Given the description of an element on the screen output the (x, y) to click on. 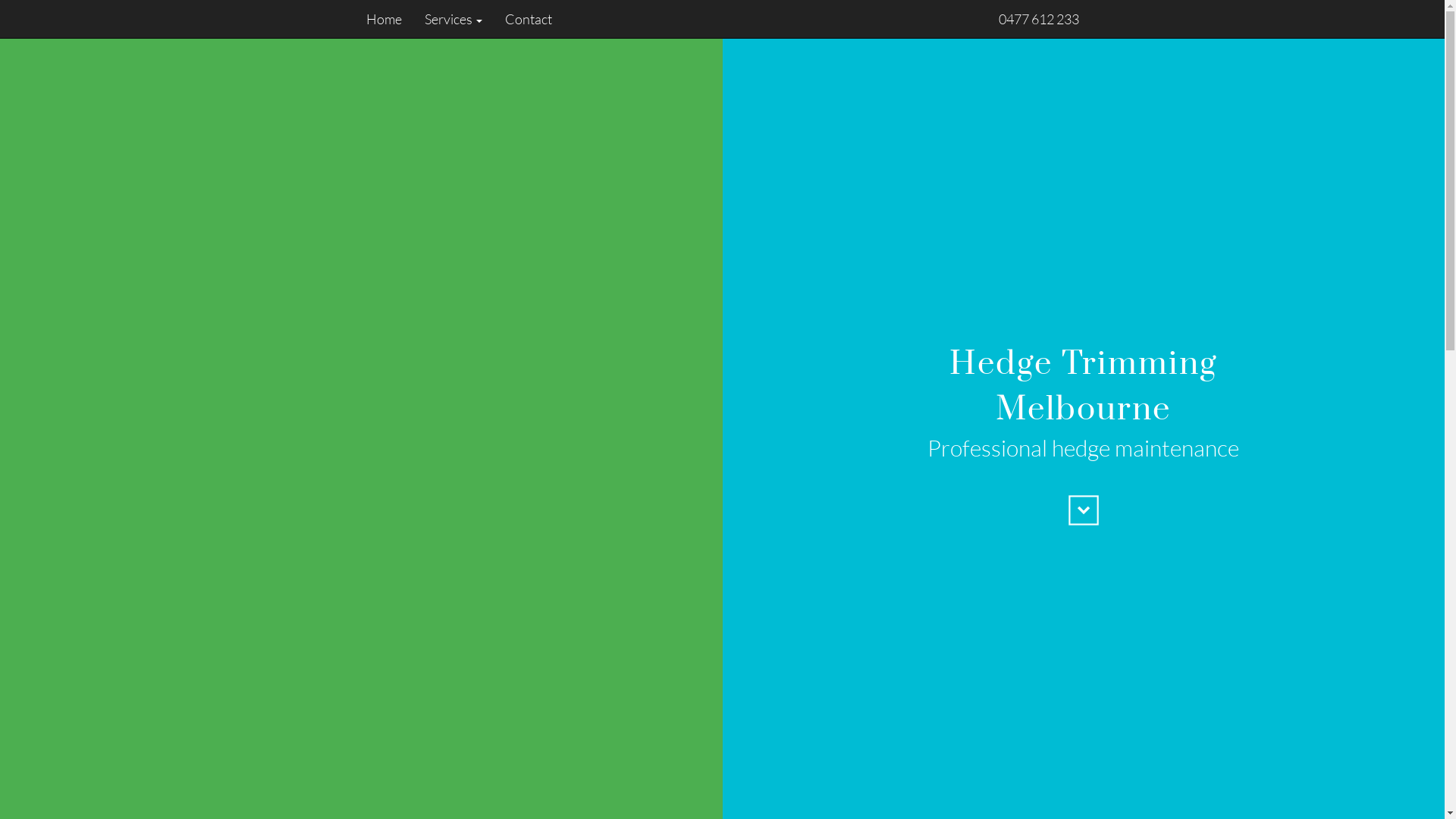
0477 612 233 Element type: text (1037, 18)
Contact Element type: text (521, 18)
Services Element type: text (452, 18)
Home Element type: text (388, 18)
